Given the description of an element on the screen output the (x, y) to click on. 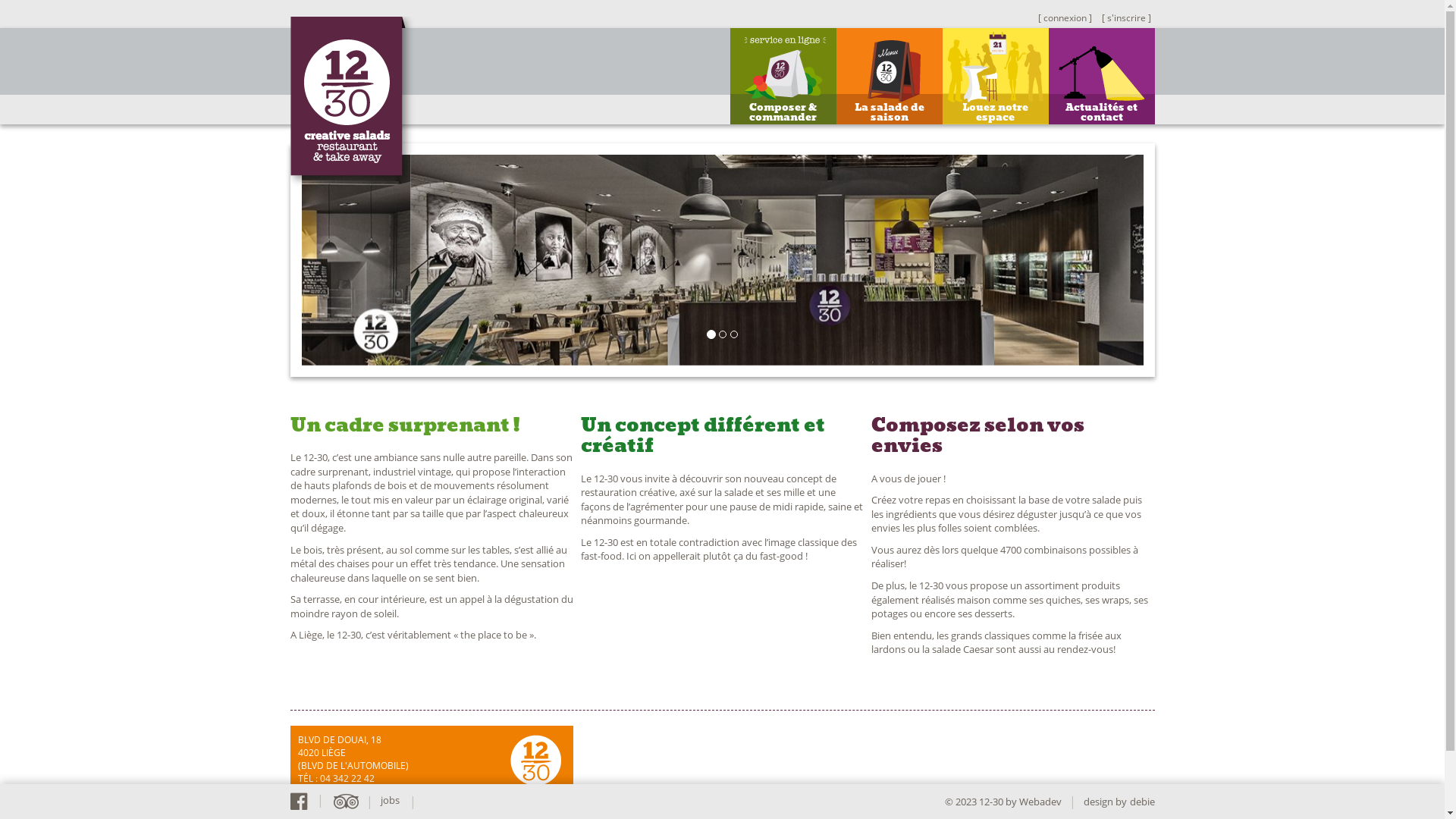
[ s'inscrire ] Element type: text (1125, 17)
debie Element type: text (1141, 801)
Webadev Element type: text (1040, 801)
Louez notre espace Element type: text (994, 76)
La salade de saison Element type: text (888, 76)
[ connexion ] Element type: text (1064, 17)
Composer & commander Element type: text (782, 76)
jobs Element type: text (389, 799)
